Given the description of an element on the screen output the (x, y) to click on. 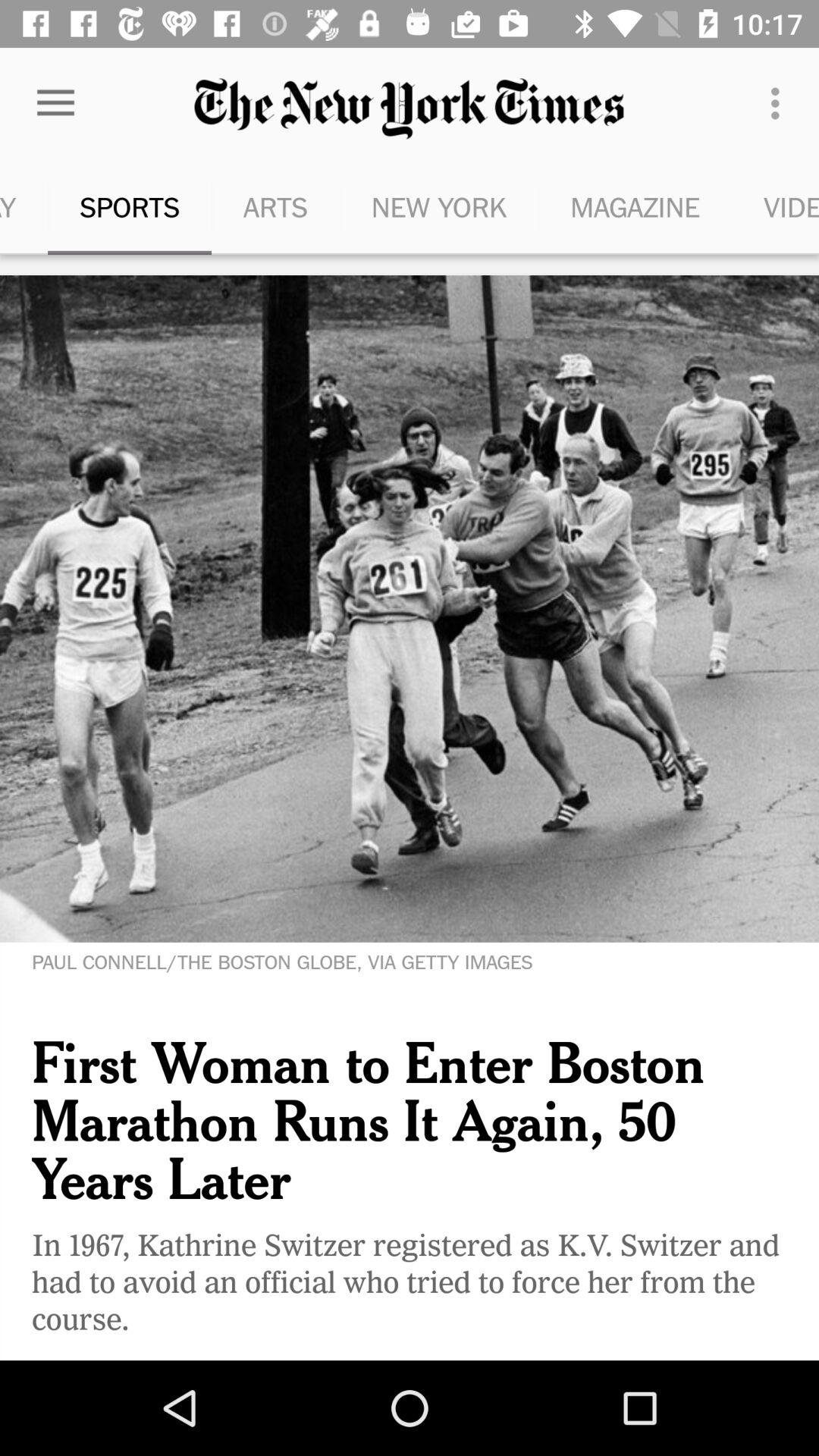
launch icon to the right of the sports item (275, 206)
